Given the description of an element on the screen output the (x, y) to click on. 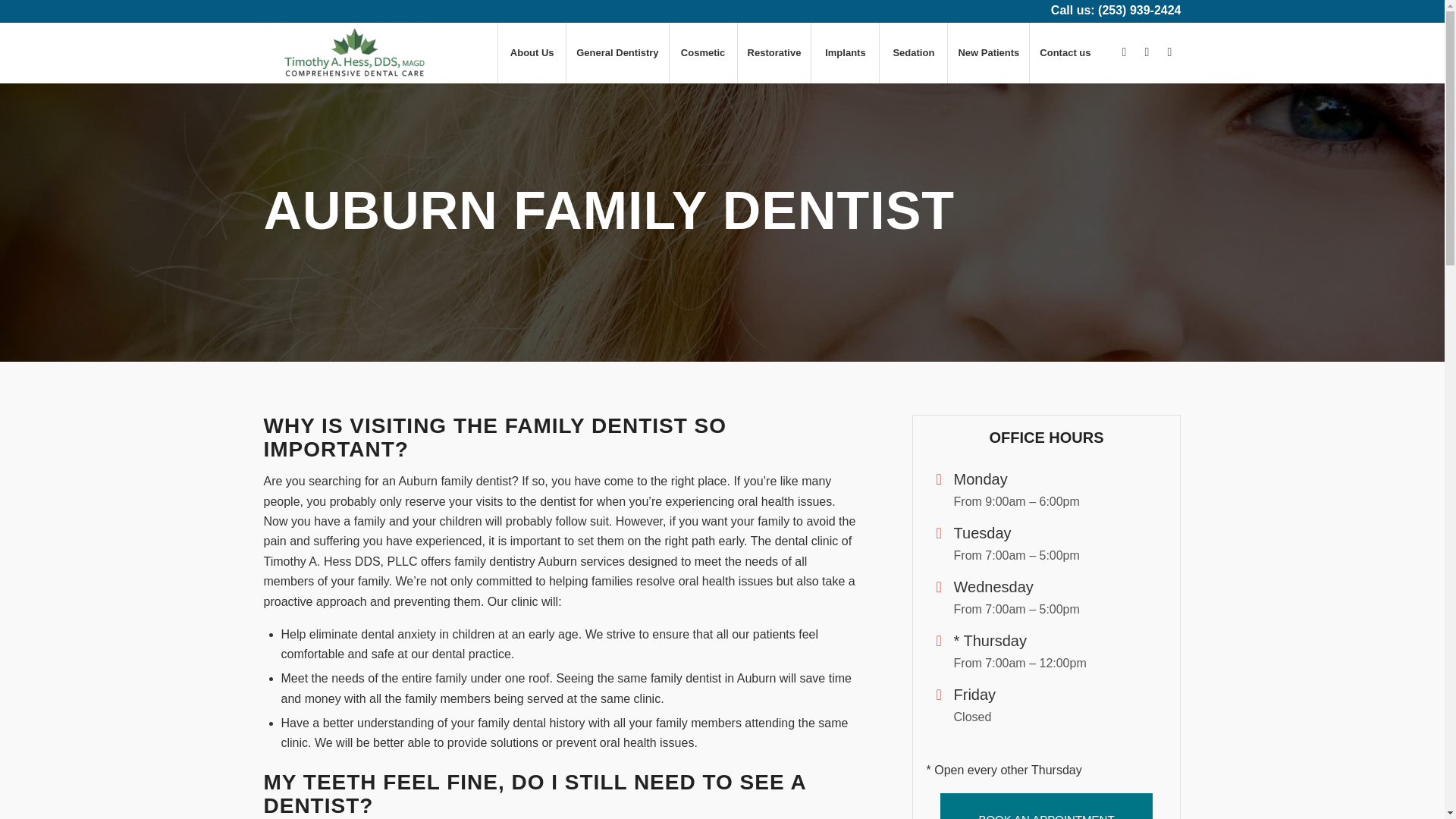
About Us (531, 52)
LinkedIn (1146, 51)
Sedation (913, 52)
Cosmetic (702, 52)
Mail (1169, 51)
New Patients (988, 52)
Implants (844, 52)
General Dentistry (617, 52)
Restorative (773, 52)
Facebook (1124, 51)
